Given the description of an element on the screen output the (x, y) to click on. 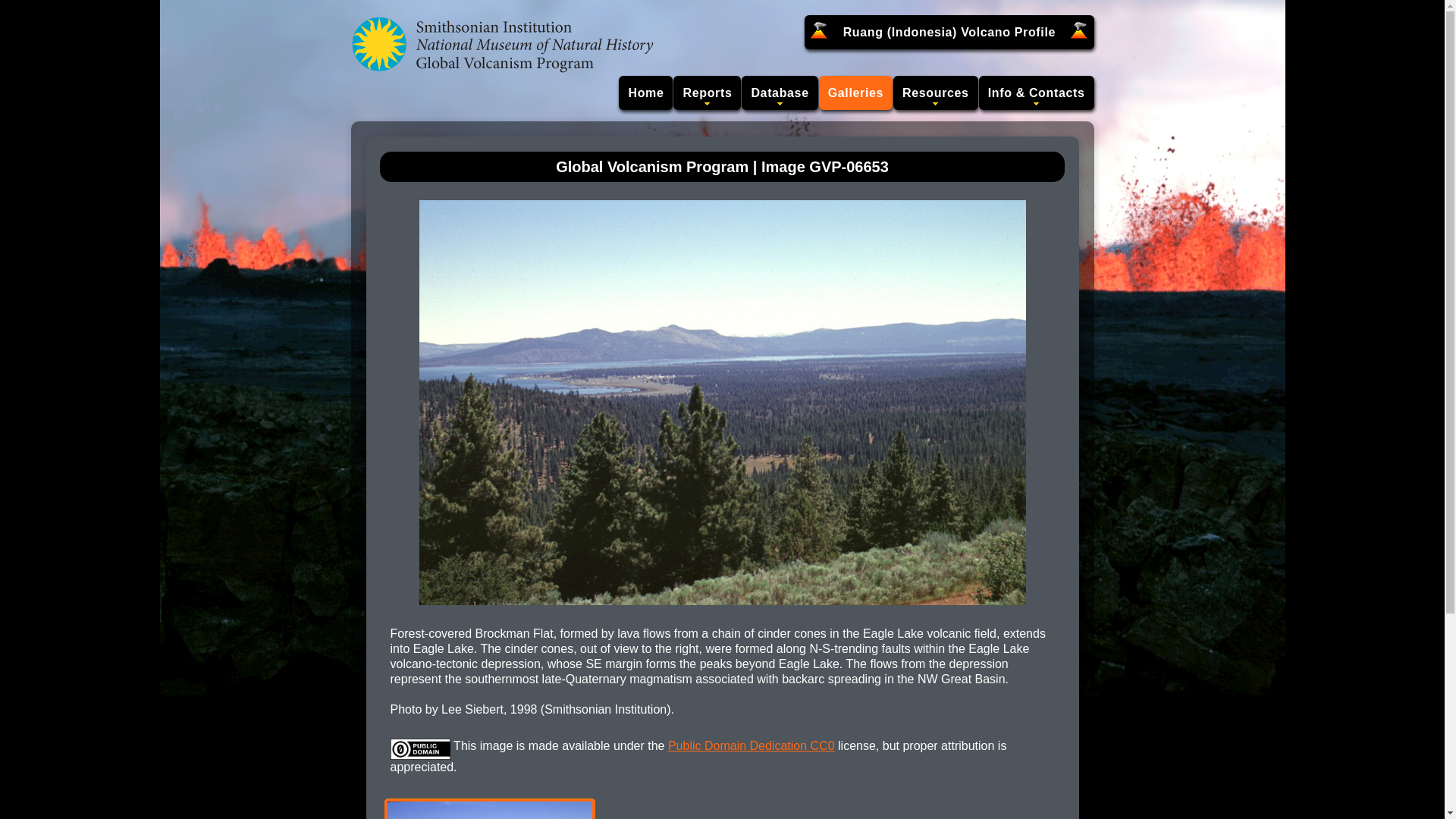
Home (645, 92)
Public Domain Dedication CC0 (751, 745)
Reports (706, 92)
Database (778, 92)
Eagle Lake Field (489, 810)
Resources (935, 92)
Galleries (855, 92)
